Given the description of an element on the screen output the (x, y) to click on. 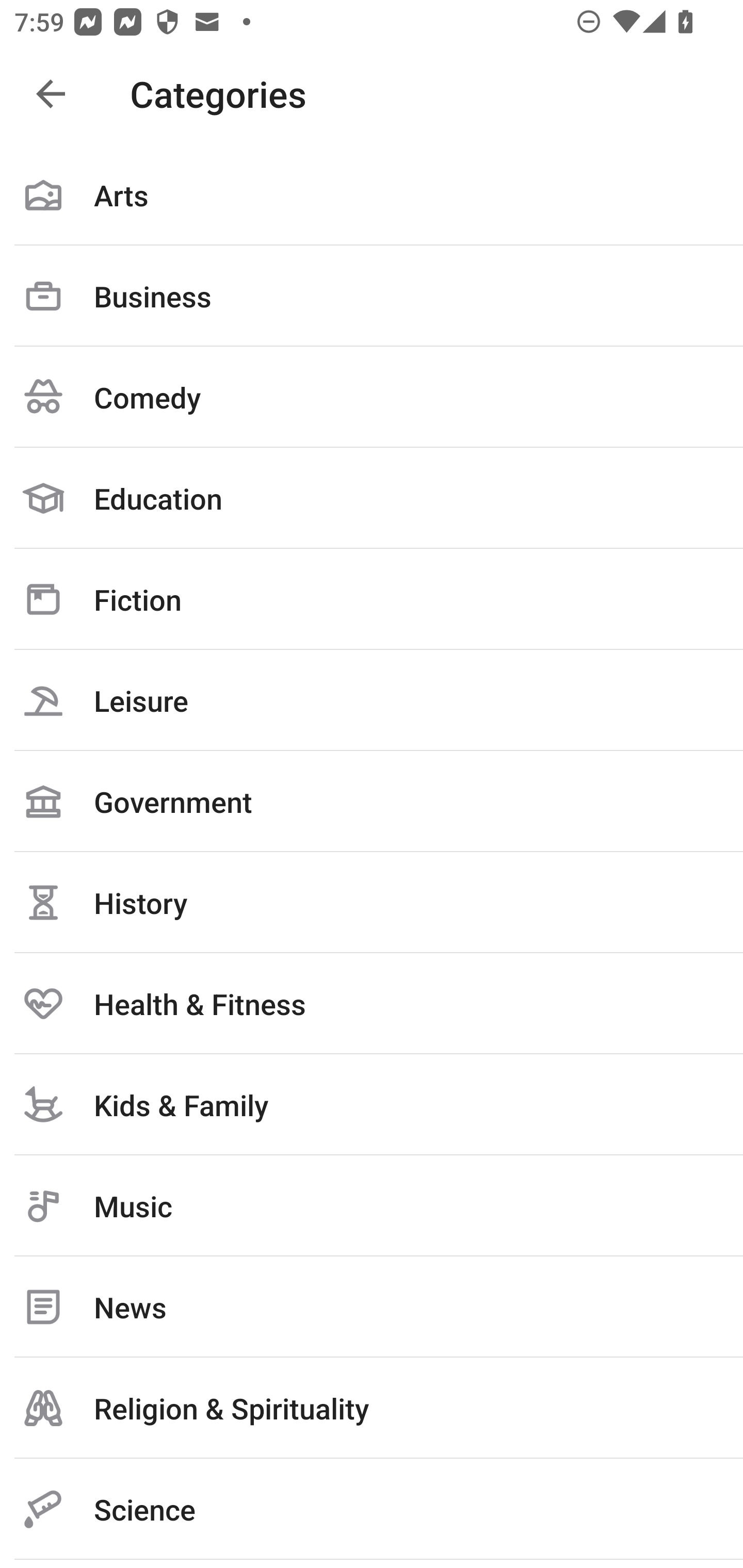
Navigate up (50, 93)
Arts (371, 195)
Business (371, 296)
Comedy (371, 397)
Education (371, 498)
Fiction (371, 598)
Leisure (371, 700)
Government (371, 801)
History (371, 902)
Health & Fitness (371, 1003)
Kids & Family (371, 1104)
Music (371, 1205)
News (371, 1306)
Religion & Spirituality (371, 1407)
Science (371, 1509)
